Given the description of an element on the screen output the (x, y) to click on. 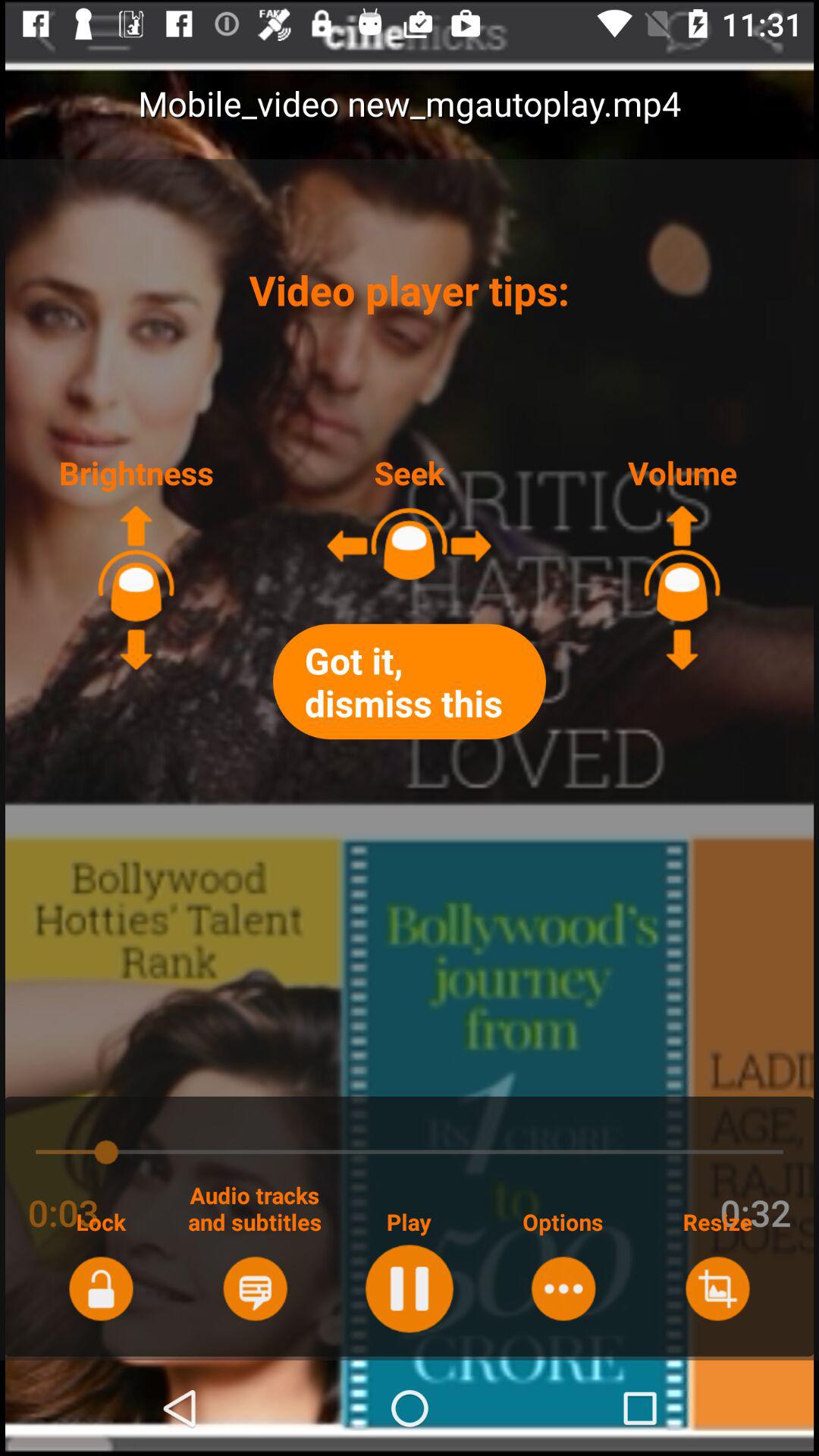
gallery (717, 1288)
